Given the description of an element on the screen output the (x, y) to click on. 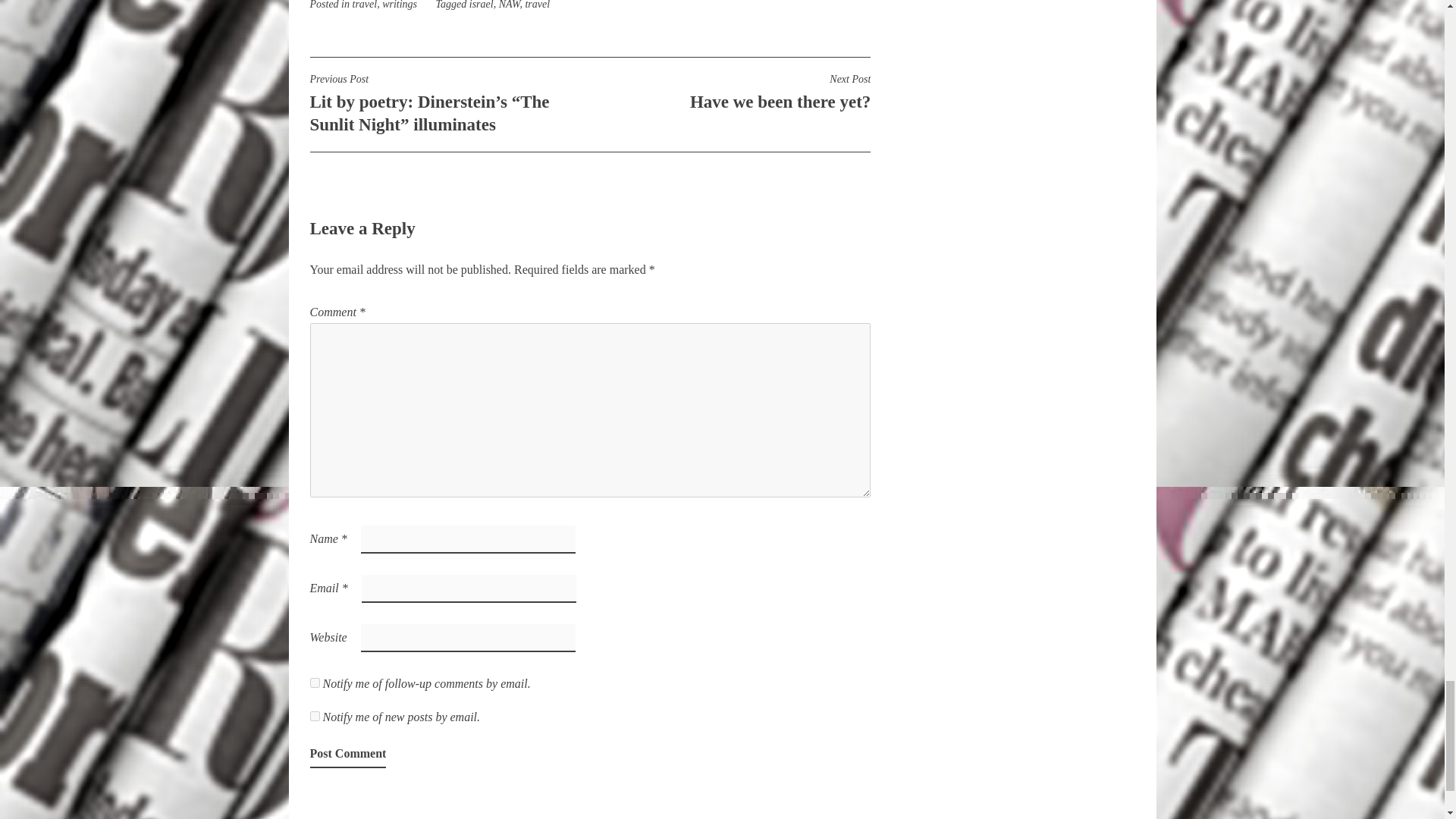
subscribe (313, 716)
writings (398, 4)
NAW (509, 4)
Post Comment (346, 754)
subscribe (313, 682)
travel (364, 4)
travel (537, 4)
israel (480, 4)
Post Comment (346, 754)
